Given the description of an element on the screen output the (x, y) to click on. 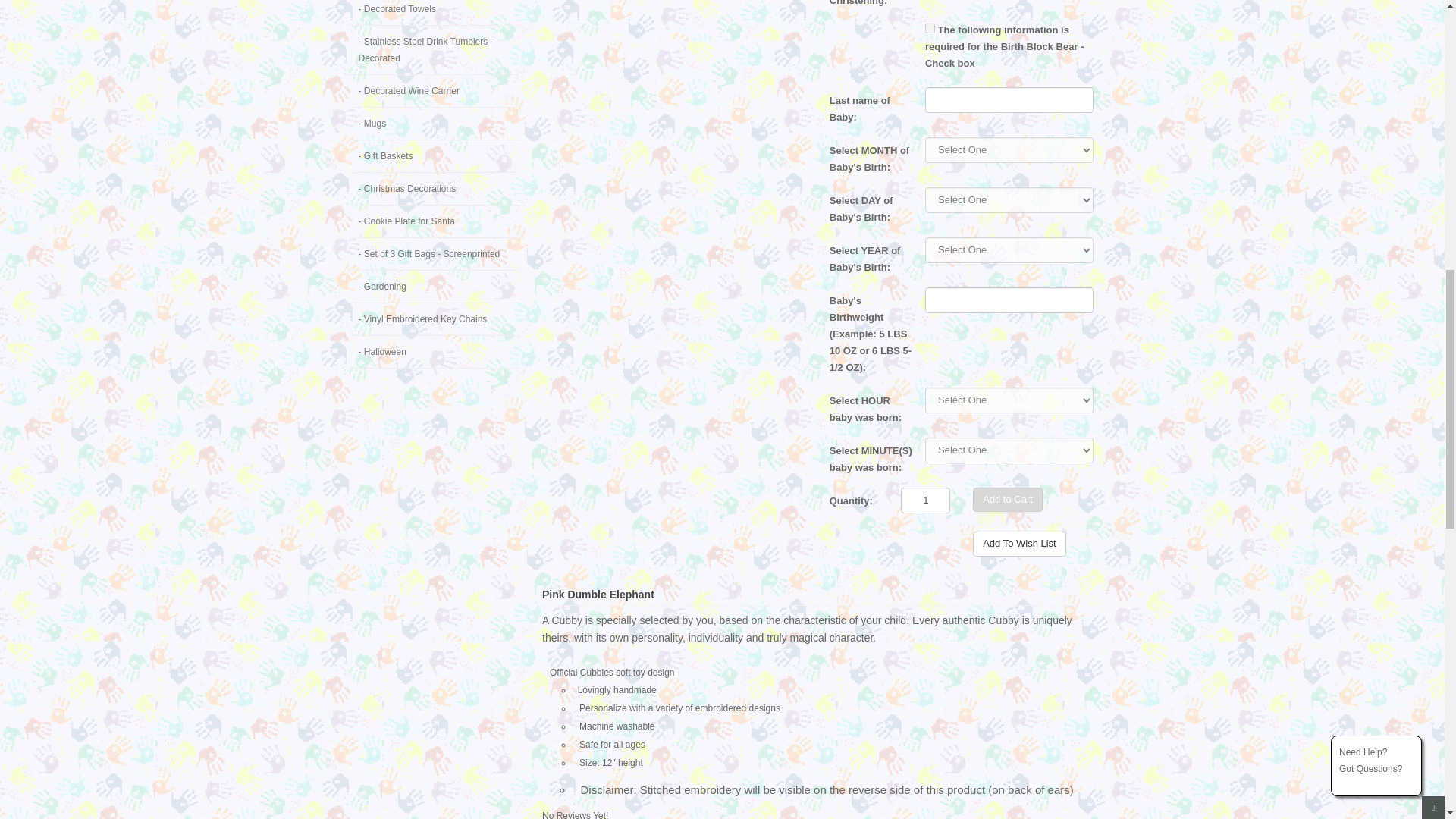
Last name of Baby: (866, 105)
1 (925, 499)
Select YEAR of Baby's Birth: (866, 255)
Select MONTH of Baby's Birth: (866, 155)
on (929, 27)
Select DAY of Baby's Birth: (866, 205)
